Given the description of an element on the screen output the (x, y) to click on. 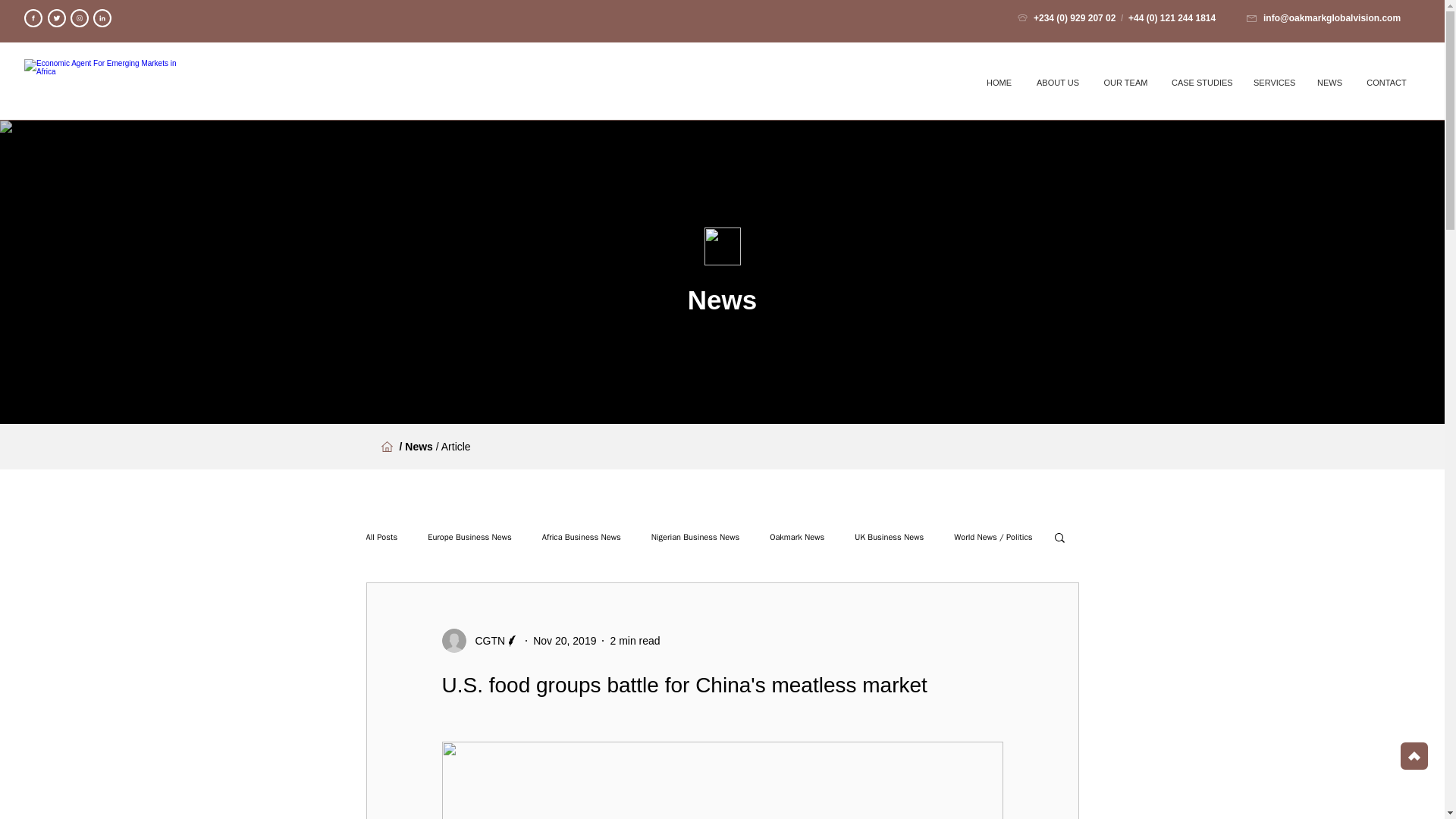
Nigerian Business News (694, 536)
CASE STUDIES (1200, 82)
HOME (999, 82)
CGTN (485, 640)
Africa Business News (581, 536)
NEWS (1329, 82)
Oakmark Global Vision (107, 81)
CONTACT (1386, 82)
All Posts (381, 536)
Nov 20, 2019 (563, 639)
ABOUT US (1057, 82)
UK Business News (888, 536)
Oakmark News (797, 536)
2 min read (634, 639)
OUR TEAM (1125, 82)
